Given the description of an element on the screen output the (x, y) to click on. 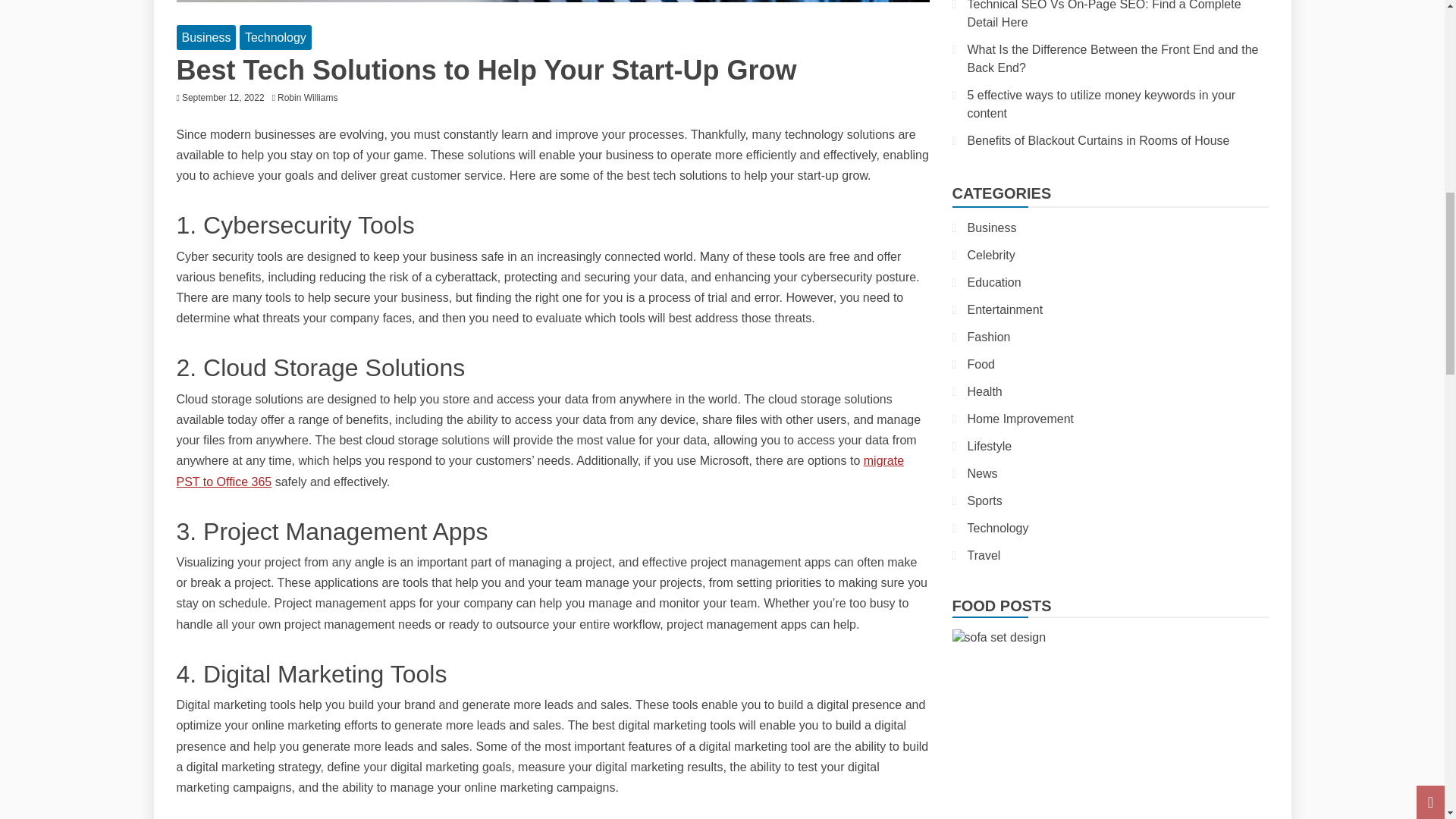
migrate PST to Office 365 (540, 470)
Technology (275, 37)
September 12, 2022 (223, 97)
Business (205, 37)
Robin Williams (311, 97)
